Given the description of an element on the screen output the (x, y) to click on. 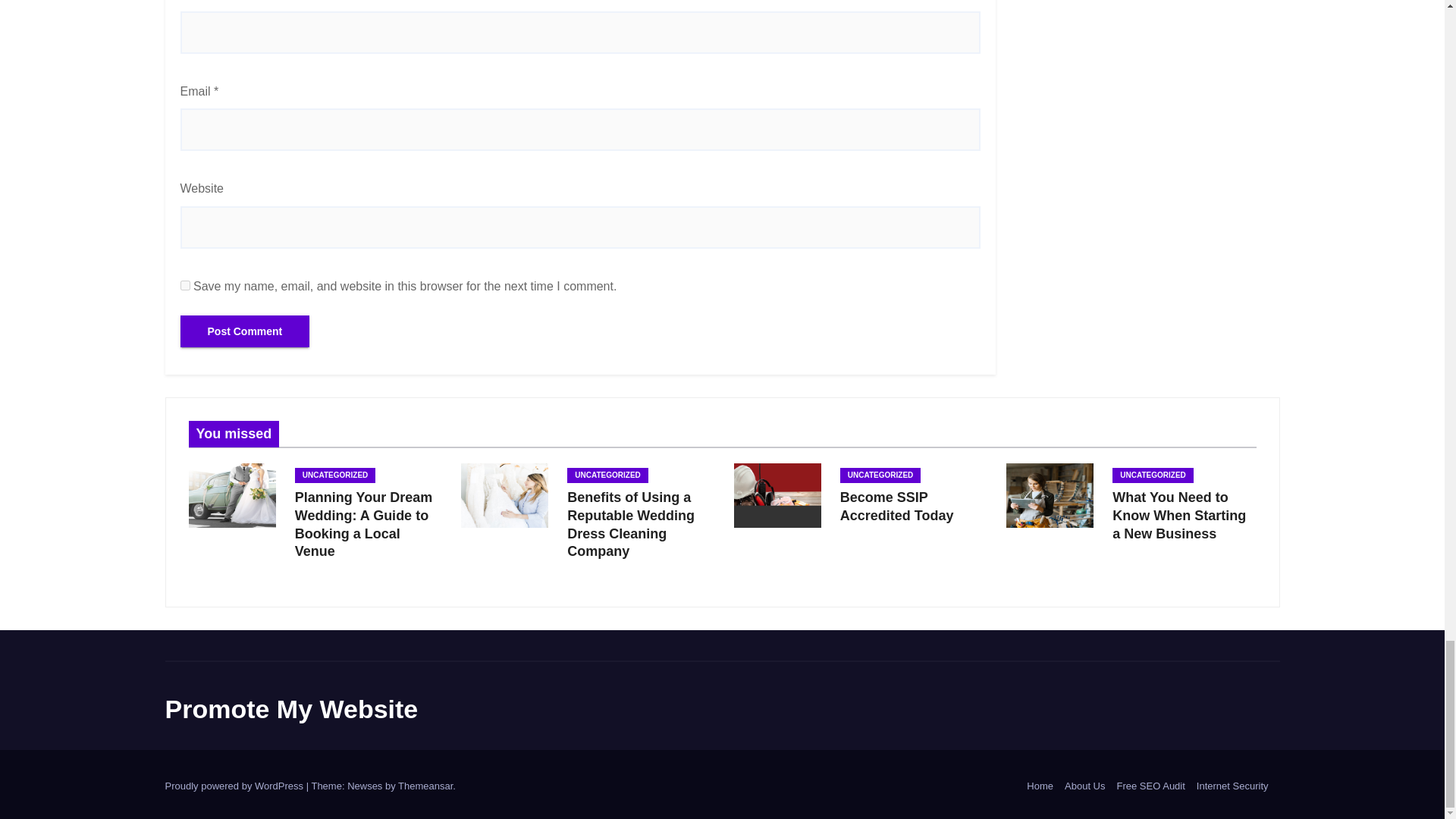
Post Comment (245, 331)
yes (185, 285)
